Given the description of an element on the screen output the (x, y) to click on. 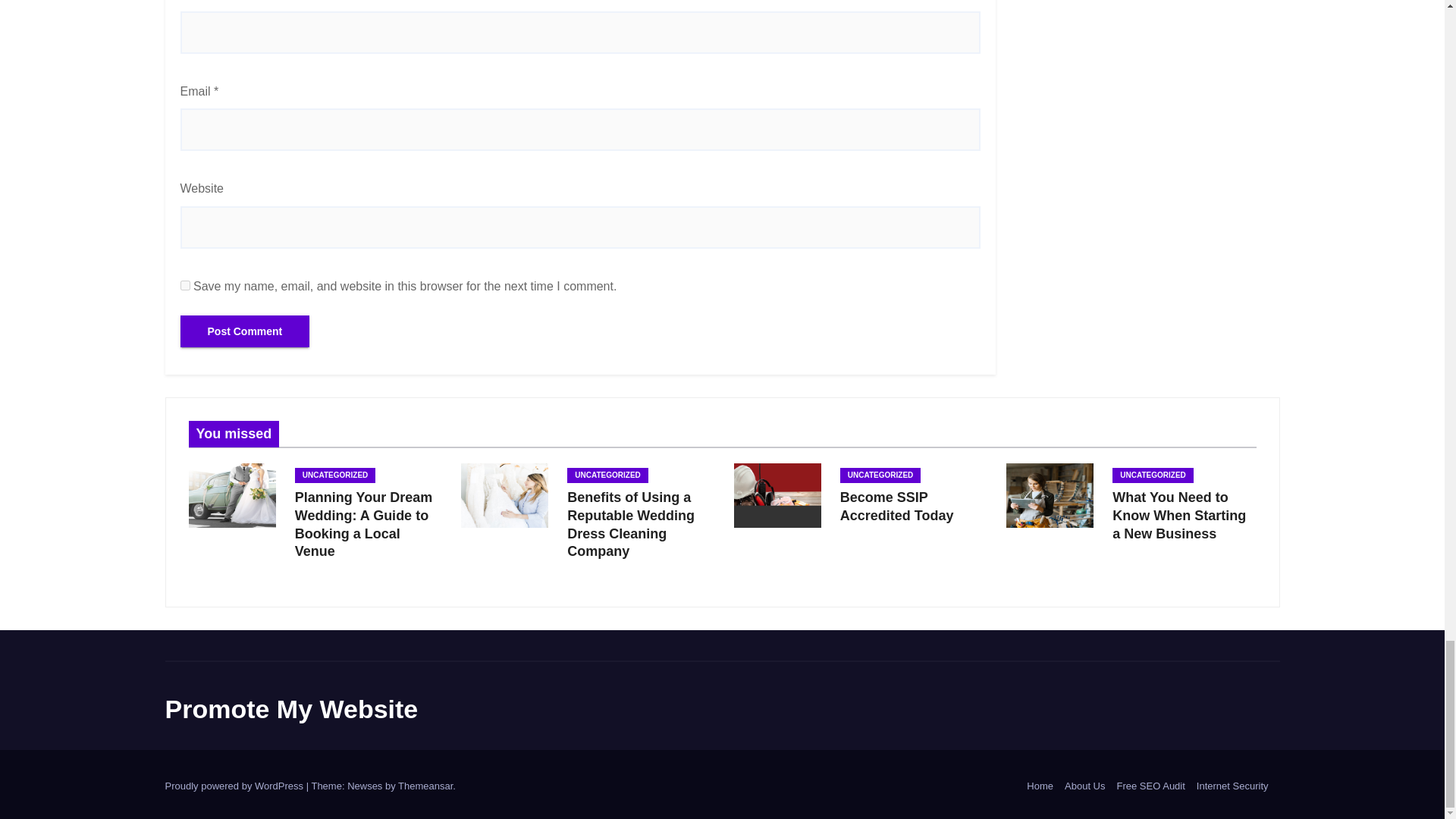
Post Comment (245, 331)
yes (185, 285)
